Given the description of an element on the screen output the (x, y) to click on. 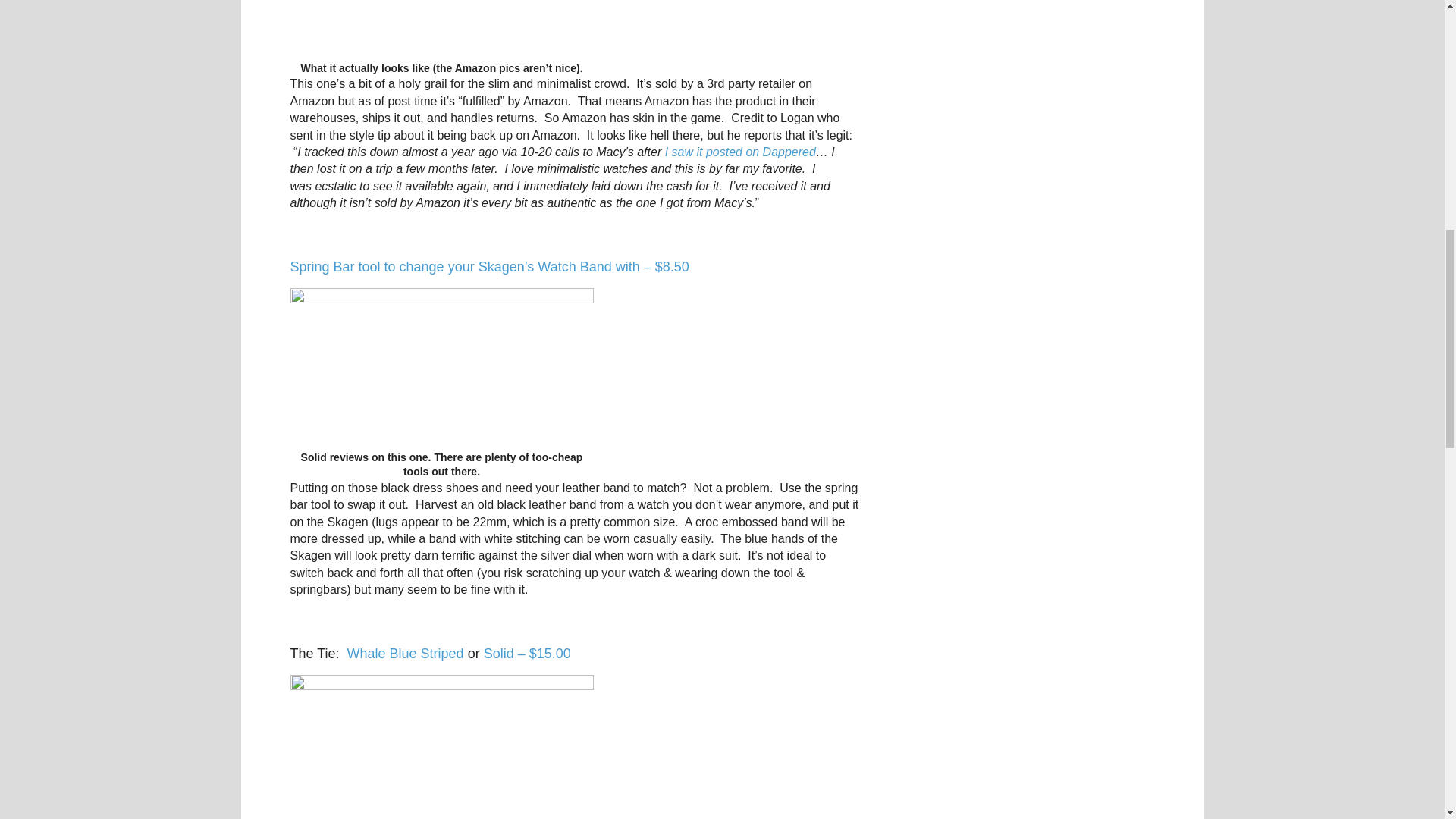
Skagen Blue Hands (440, 30)
Whale Blue Striped (405, 653)
Springbar tool (440, 369)
I saw it posted on Dappered (740, 151)
Whale Blue Tie (440, 746)
